Given the description of an element on the screen output the (x, y) to click on. 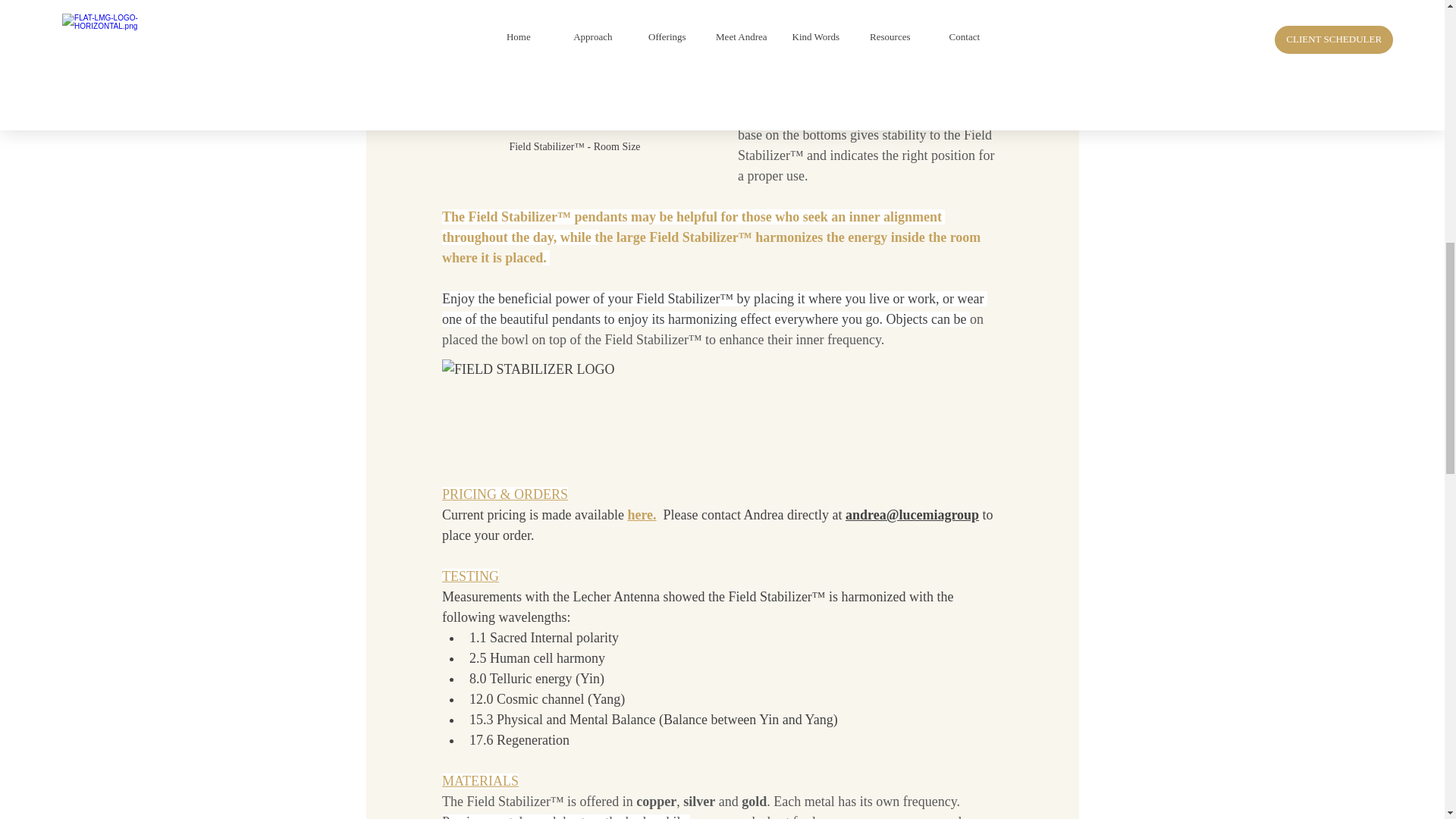
here. (641, 514)
